Given the description of an element on the screen output the (x, y) to click on. 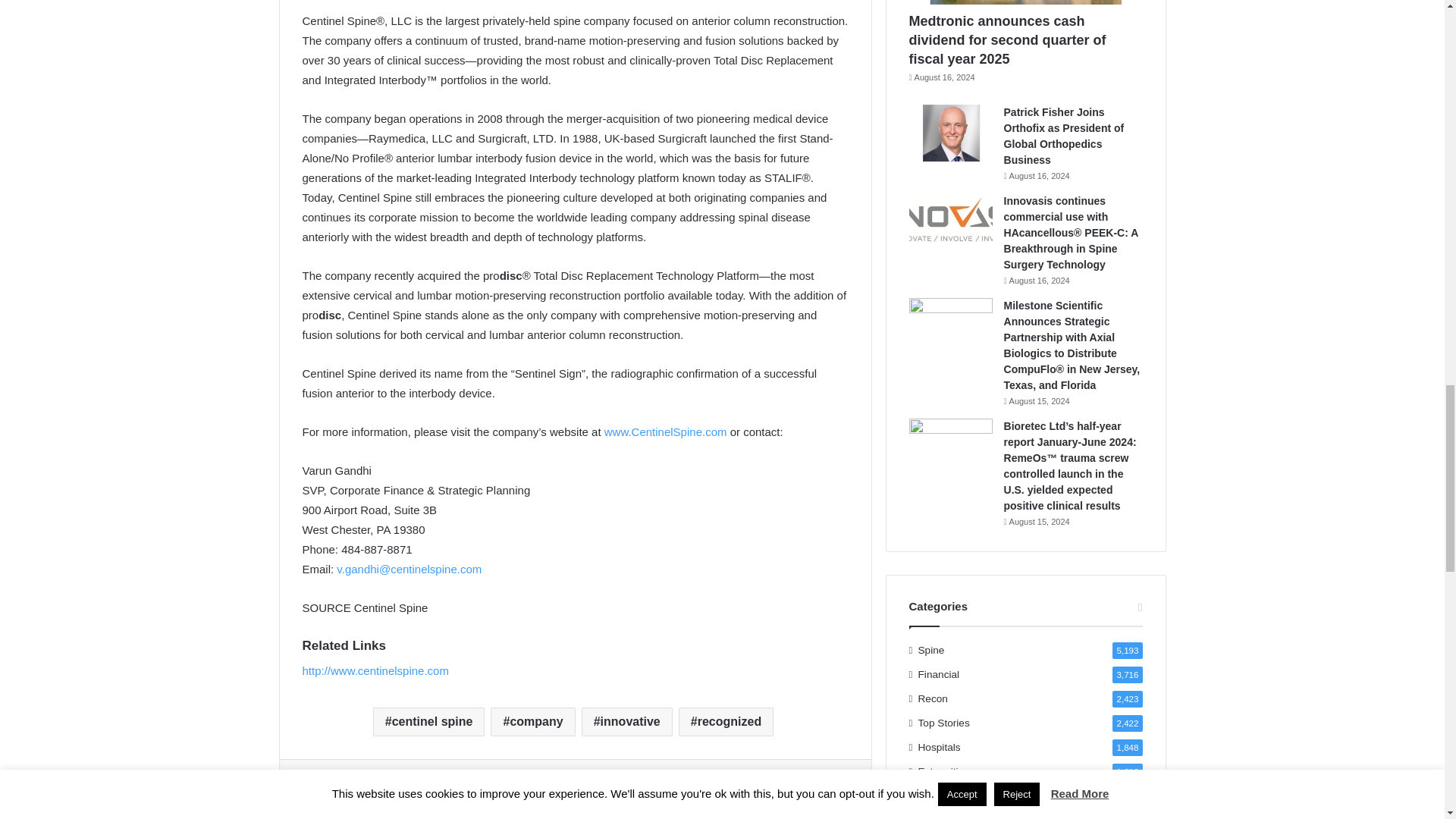
centinel spine (428, 721)
LinkedIn (389, 789)
company (532, 721)
Print (461, 789)
recognized (725, 721)
Twitter (352, 789)
www.CentinelSpine.com (665, 431)
innovative (626, 721)
Share via Email (425, 789)
Facebook (316, 789)
